Given the description of an element on the screen output the (x, y) to click on. 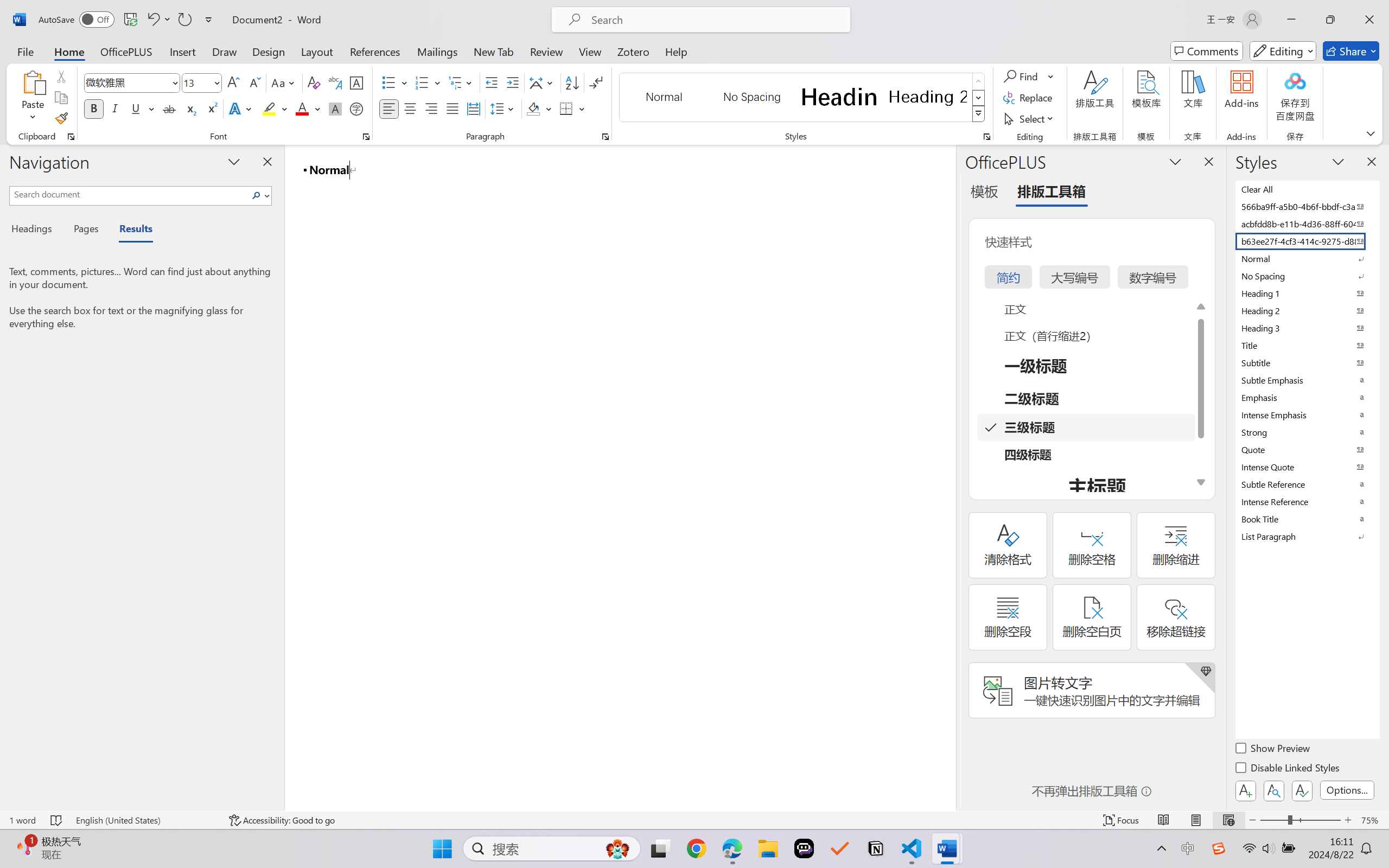
Search document (128, 193)
References (375, 51)
Microsoft search (715, 19)
Class: NetUIScrollBar (948, 477)
Styles (978, 113)
AutoSave (76, 19)
Character Border (356, 82)
Save (130, 19)
Class: MsoCommandBar (694, 819)
Title (1306, 345)
